Given the description of an element on the screen output the (x, y) to click on. 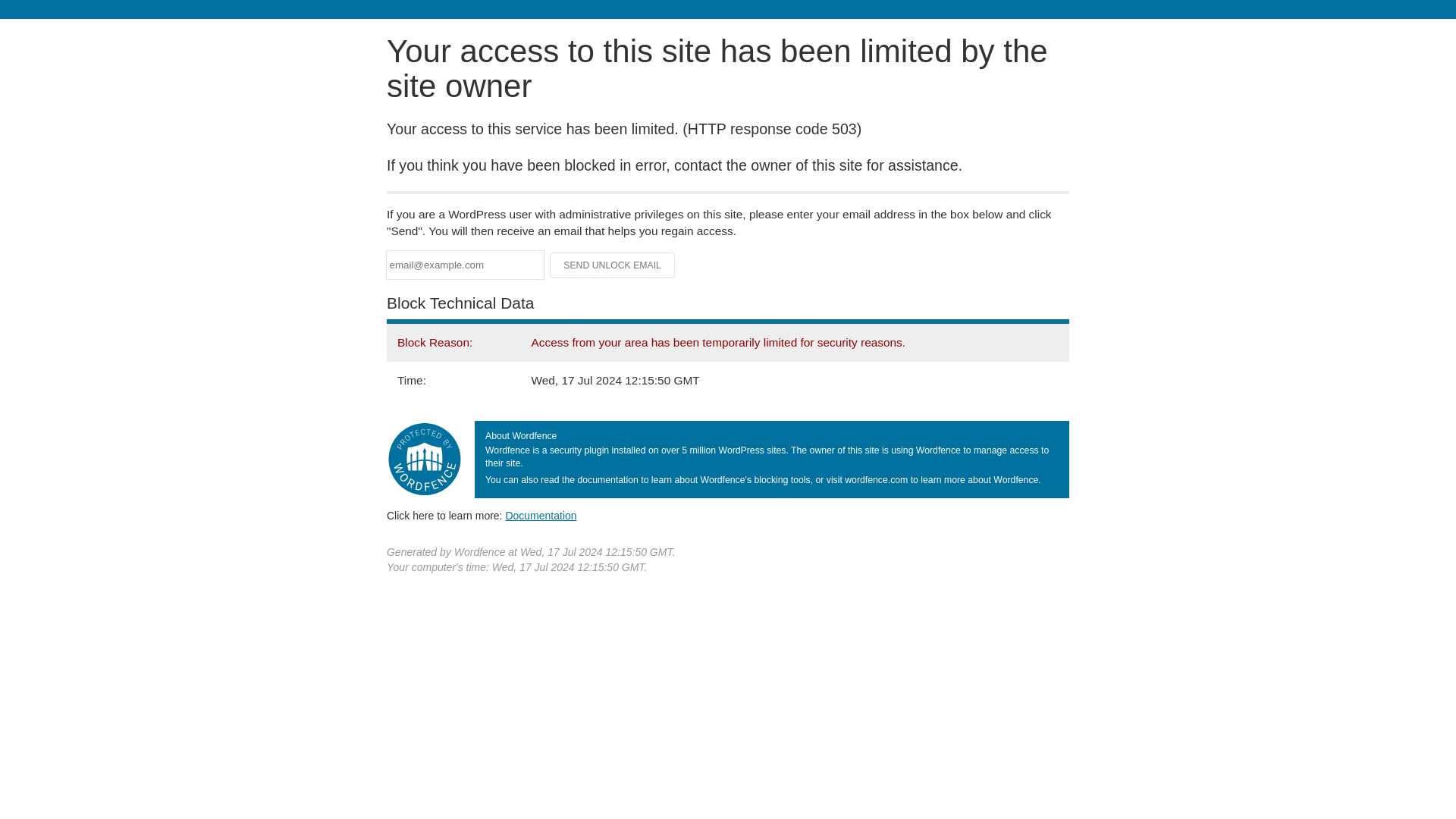
Send Unlock Email (612, 265)
Documentation (540, 515)
Send Unlock Email (612, 265)
